Given the description of an element on the screen output the (x, y) to click on. 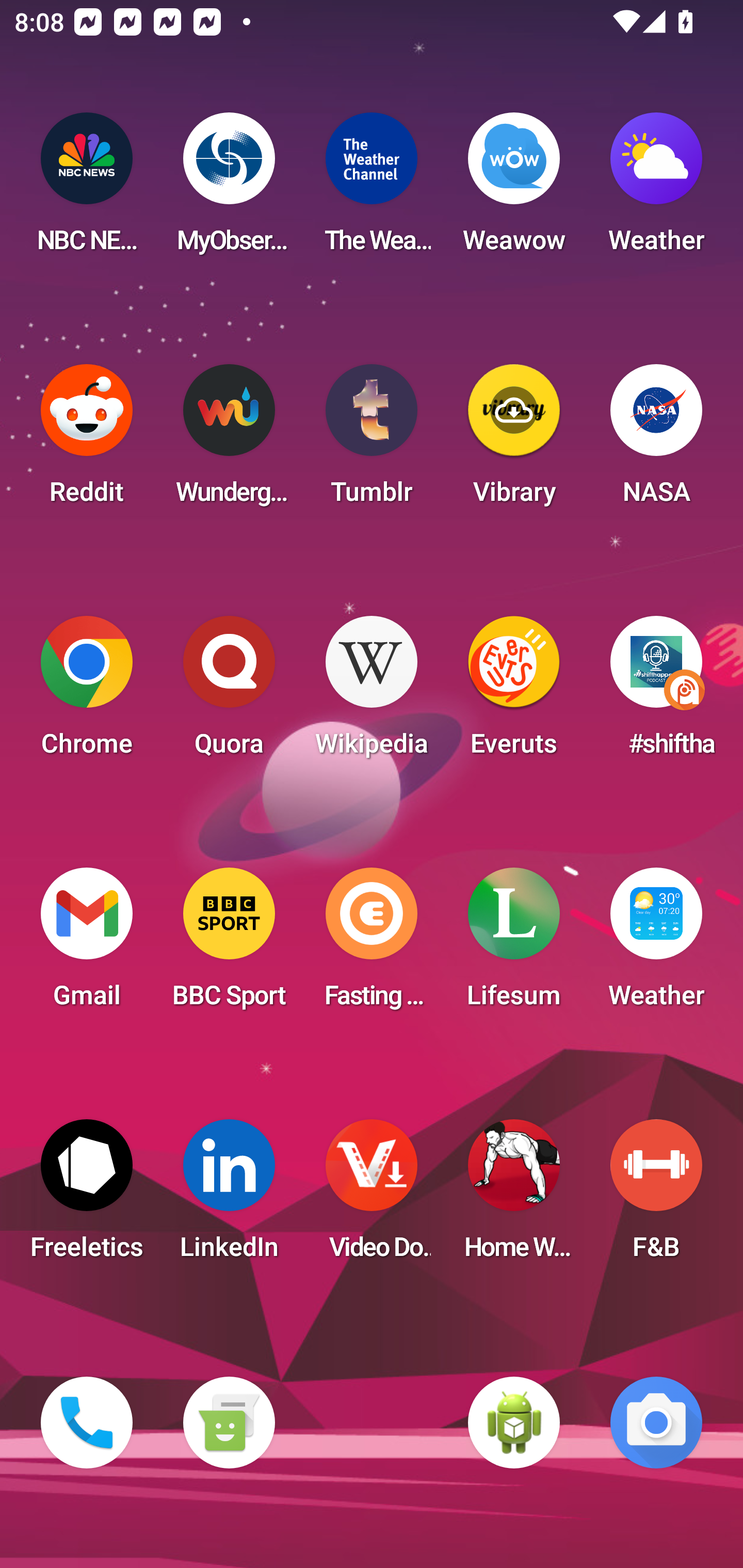
NBC NEWS (86, 188)
MyObservatory (228, 188)
The Weather Channel (371, 188)
Weawow (513, 188)
Weather (656, 188)
Reddit (86, 440)
Wunderground (228, 440)
Tumblr (371, 440)
Vibrary (513, 440)
NASA (656, 440)
Chrome (86, 692)
Quora (228, 692)
Wikipedia (371, 692)
Everuts (513, 692)
#shifthappens in the Digital Workplace Podcast (656, 692)
Gmail (86, 943)
BBC Sport (228, 943)
Fasting Coach (371, 943)
Lifesum (513, 943)
Weather (656, 943)
Freeletics (86, 1195)
LinkedIn (228, 1195)
Video Downloader & Ace Player (371, 1195)
Home Workout (513, 1195)
F&B (656, 1195)
Phone (86, 1422)
Messaging (228, 1422)
WebView Browser Tester (513, 1422)
Camera (656, 1422)
